Given the description of an element on the screen output the (x, y) to click on. 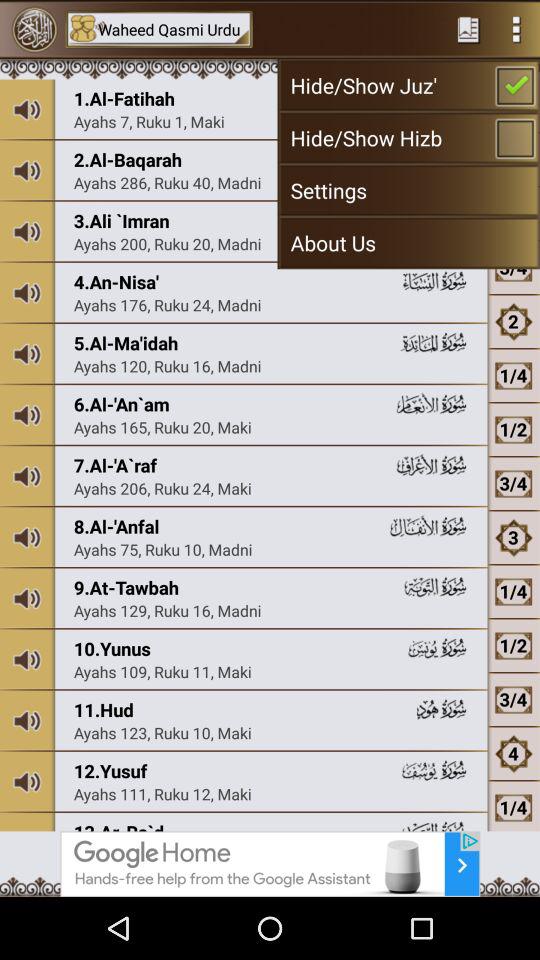
option button (516, 29)
